Given the description of an element on the screen output the (x, y) to click on. 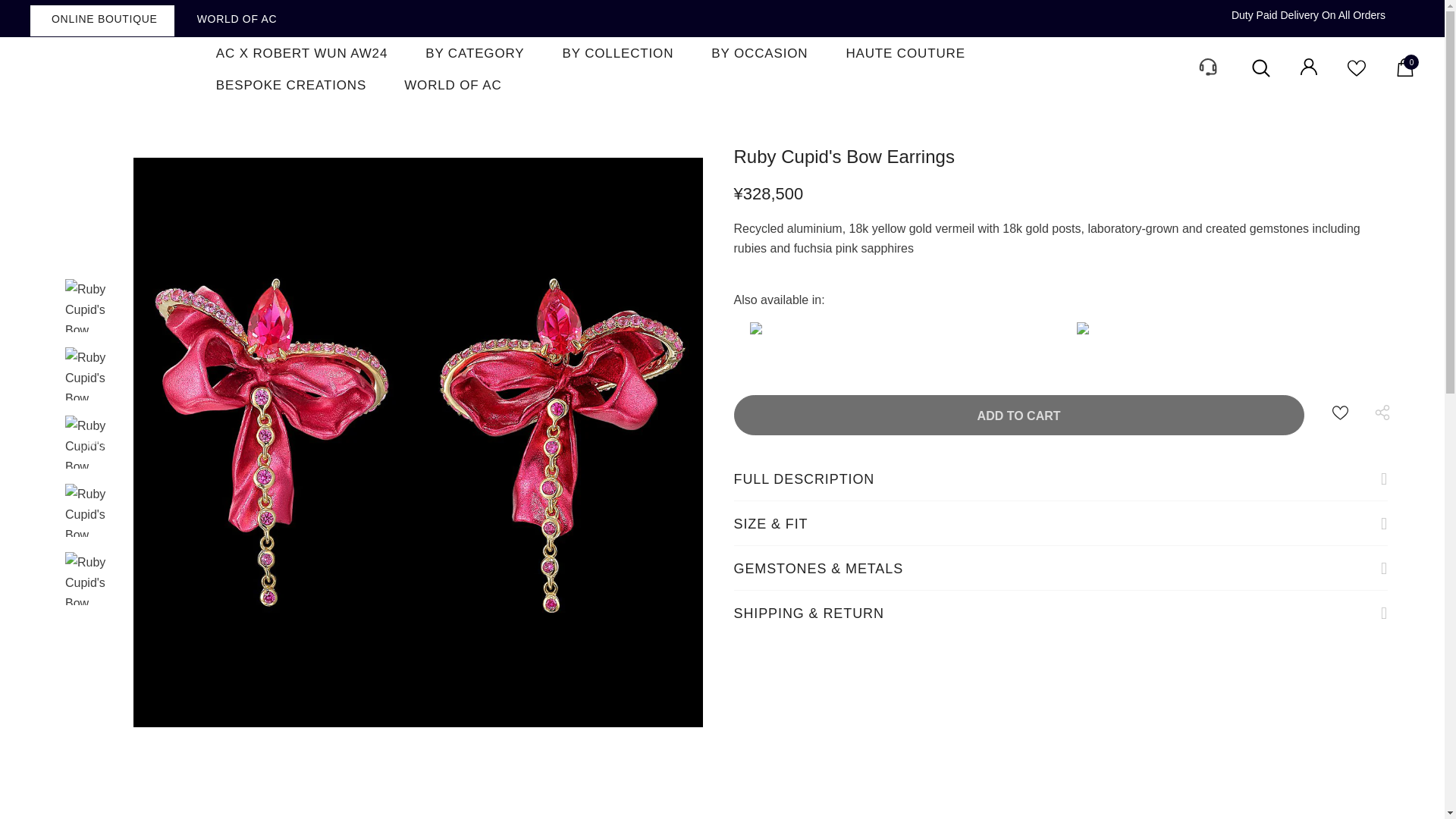
ONLINE BOUTIQUE (102, 20)
HAUTE COUTURE (904, 52)
Add to cart (1018, 414)
BESPOKE CREATIONS (291, 84)
BY COLLECTION (617, 52)
My Wish Lists (1356, 72)
0 (1404, 72)
Contact Us (1206, 78)
Search Icon (1260, 68)
AC X ROBERT WUN AW24 (301, 52)
